Given the description of an element on the screen output the (x, y) to click on. 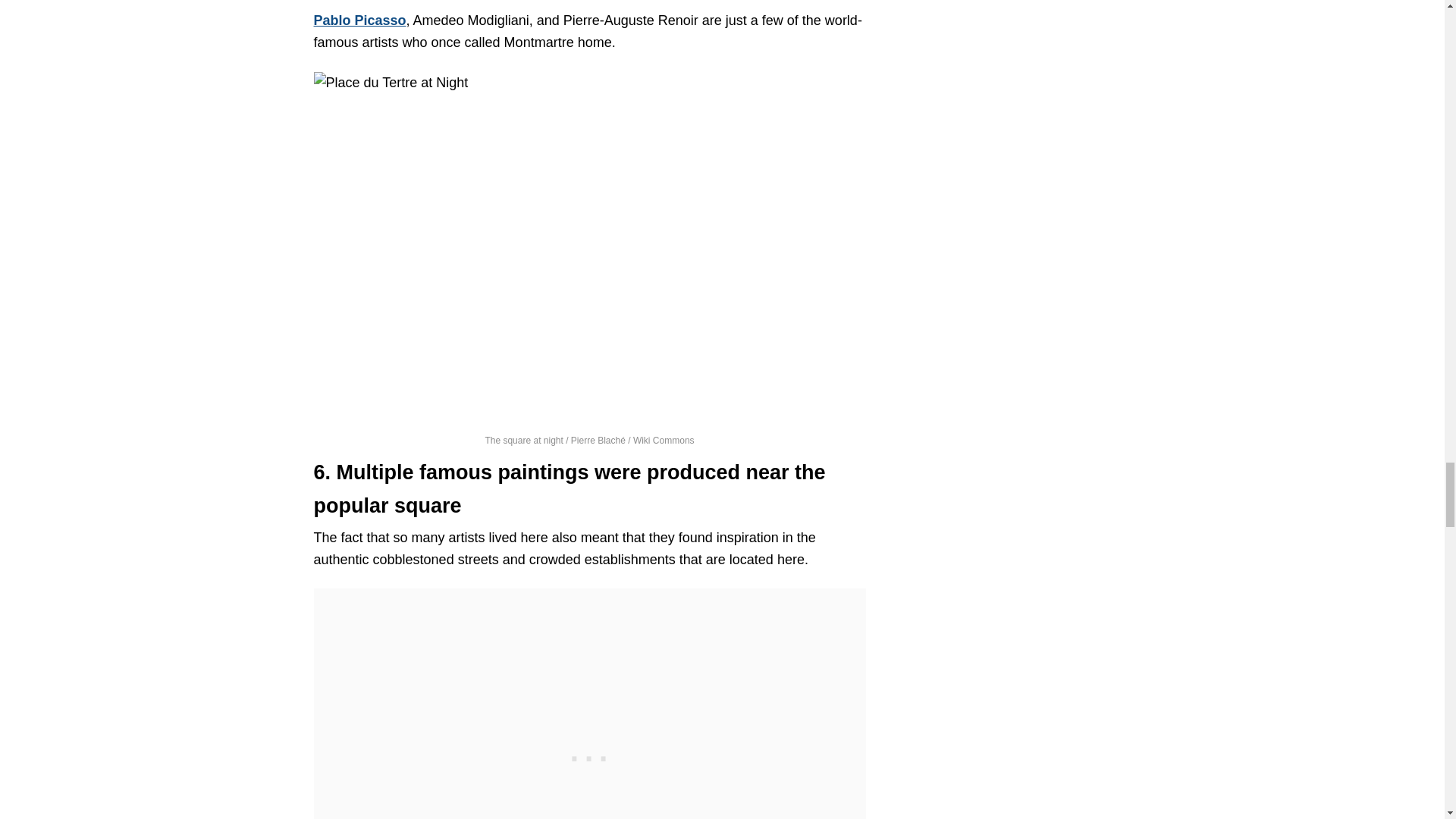
Pablo Picasso (360, 20)
